Given the description of an element on the screen output the (x, y) to click on. 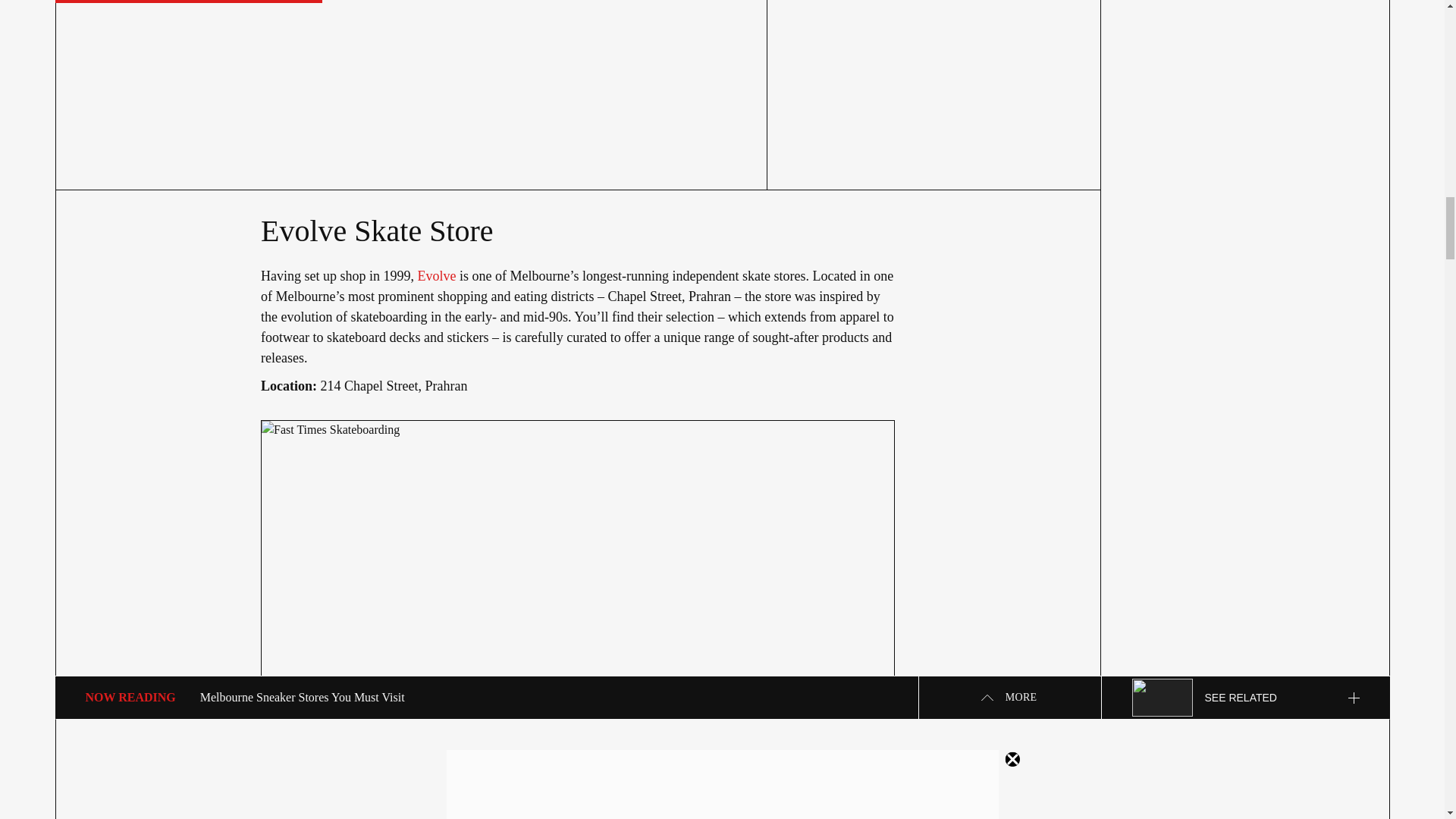
Evolve (435, 275)
